Given the description of an element on the screen output the (x, y) to click on. 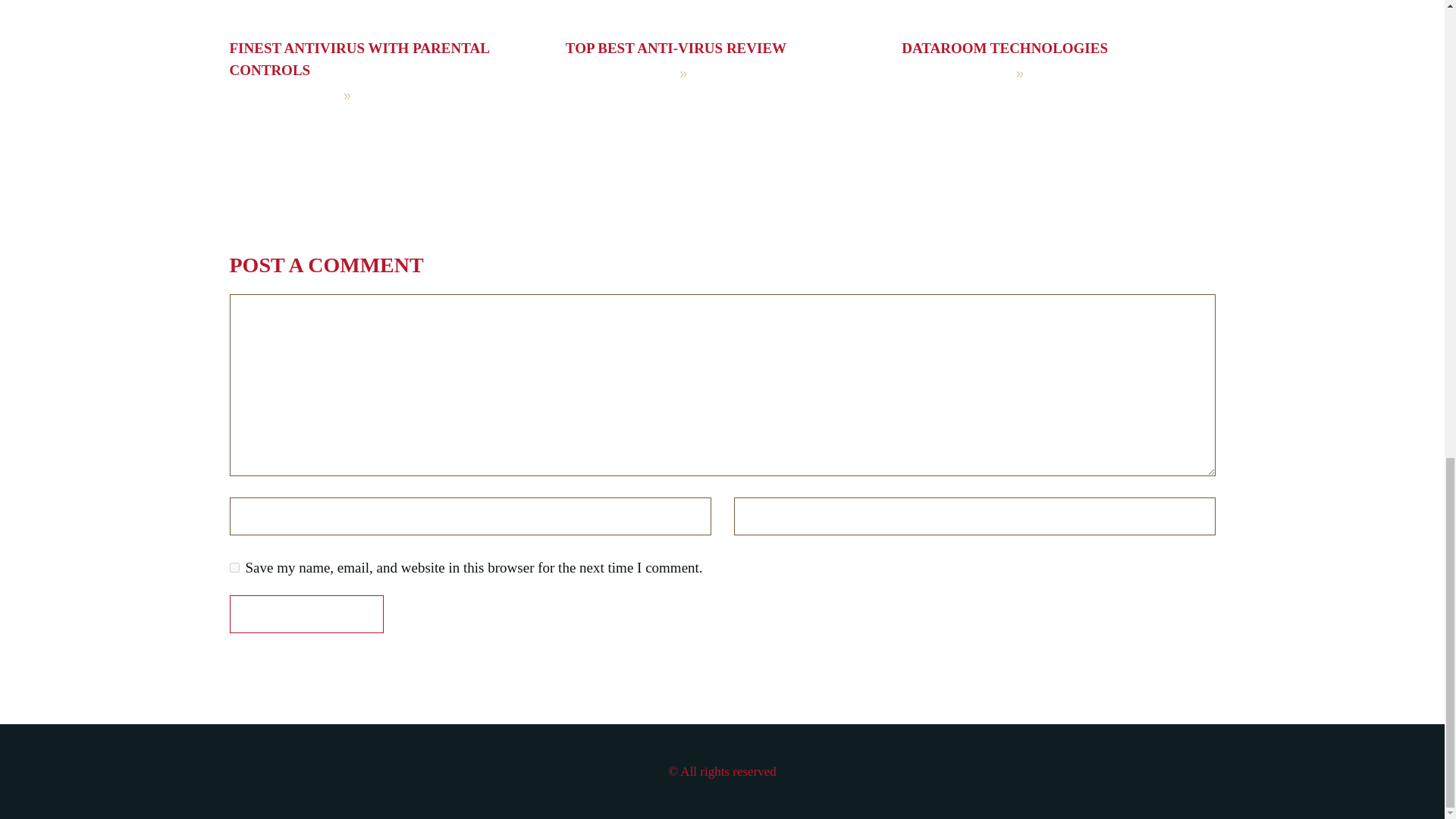
Dataroom Technologies (1004, 48)
October 9, 2022 (282, 94)
TOP BEST ANTI-VIRUS REVIEW (676, 48)
Top Best Anti-virus Review (676, 48)
October 9, 2022 (619, 73)
Heaven Restaurant (760, 73)
Finest Antivirus With Parental Controls (357, 58)
yes (233, 567)
Heaven Restaurant (423, 94)
DATAROOM TECHNOLOGIES (1004, 48)
